Given the description of an element on the screen output the (x, y) to click on. 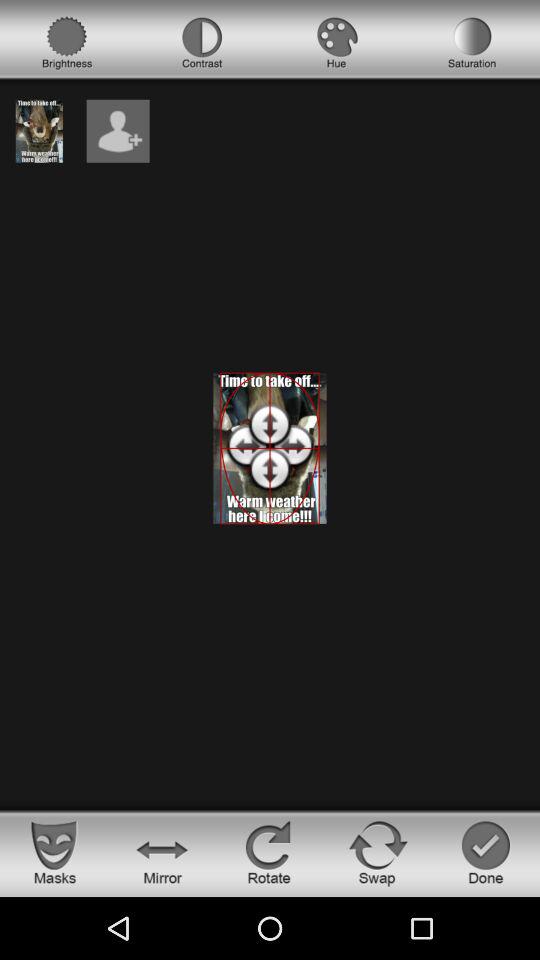
select hue (337, 43)
